Given the description of an element on the screen output the (x, y) to click on. 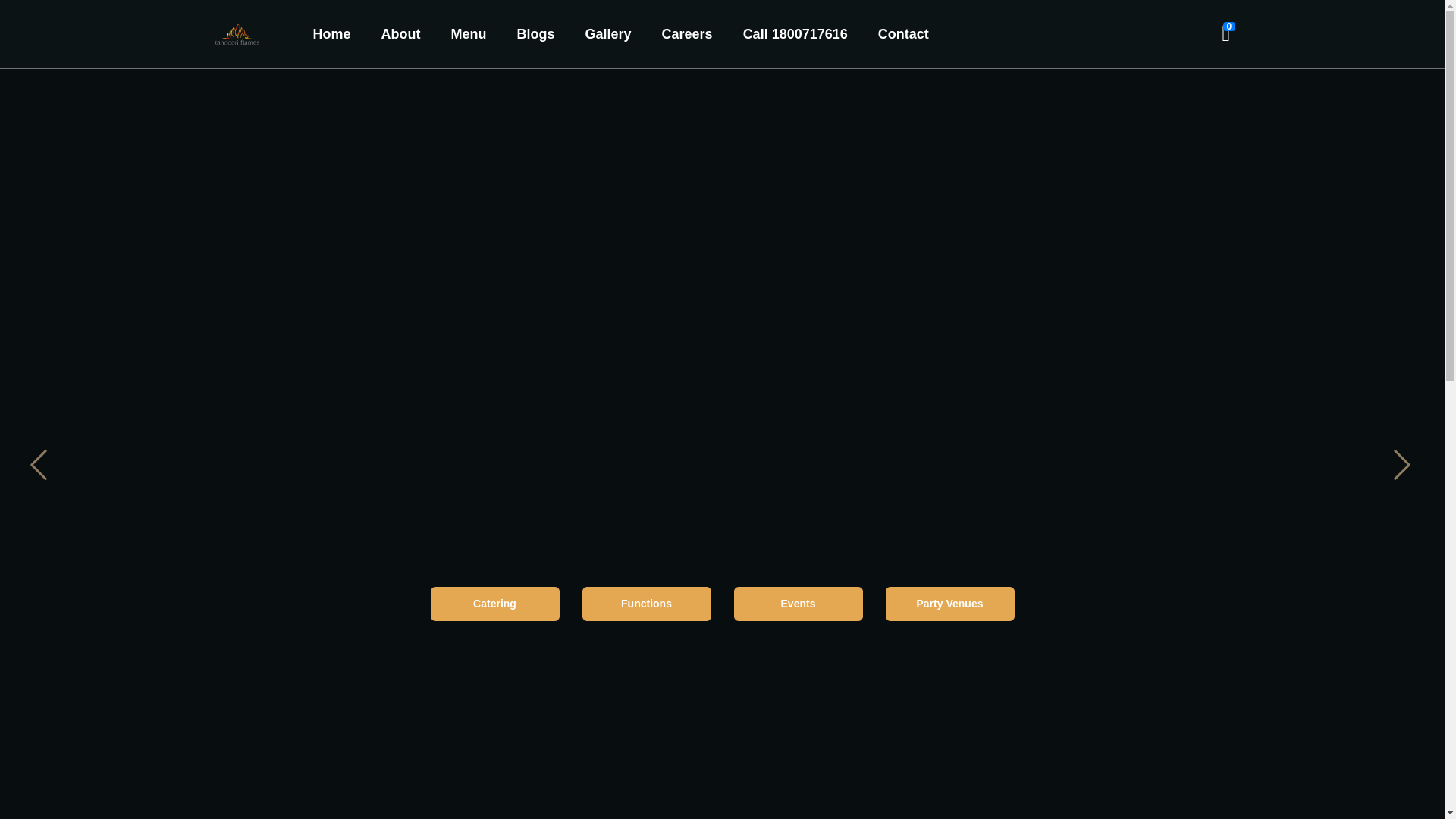
Blogs (535, 32)
Contact (902, 32)
Careers (687, 32)
Home (331, 32)
Catering (494, 603)
Menu (467, 32)
Call 1800717616 (794, 32)
Functions (646, 603)
About (400, 32)
Events (798, 603)
